Given the description of an element on the screen output the (x, y) to click on. 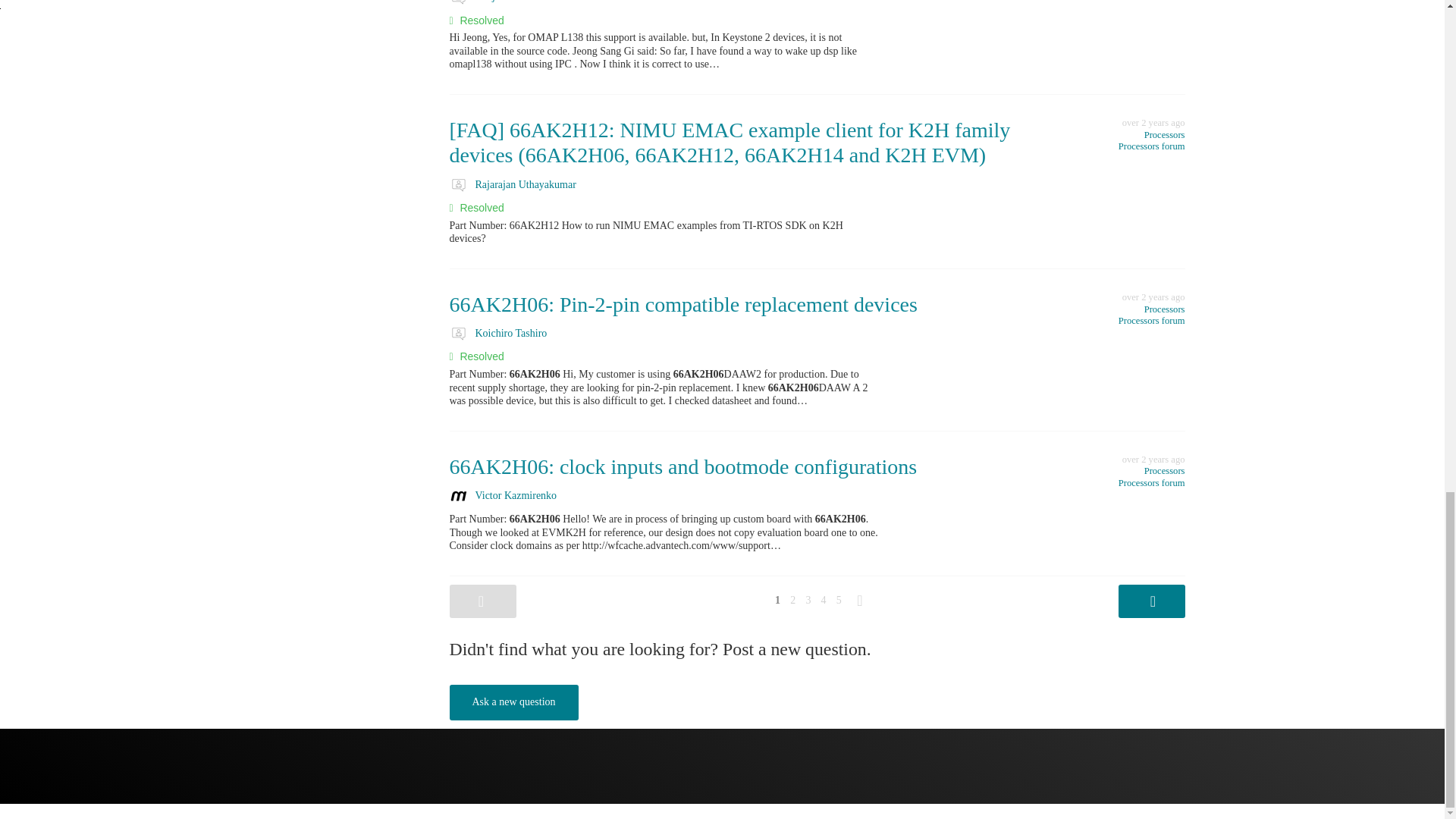
66AK2H06: clock inputs and bootmode configurations (682, 466)
66AK2H06: Pin-2-pin compatible replacement devices (682, 304)
